Given the description of an element on the screen output the (x, y) to click on. 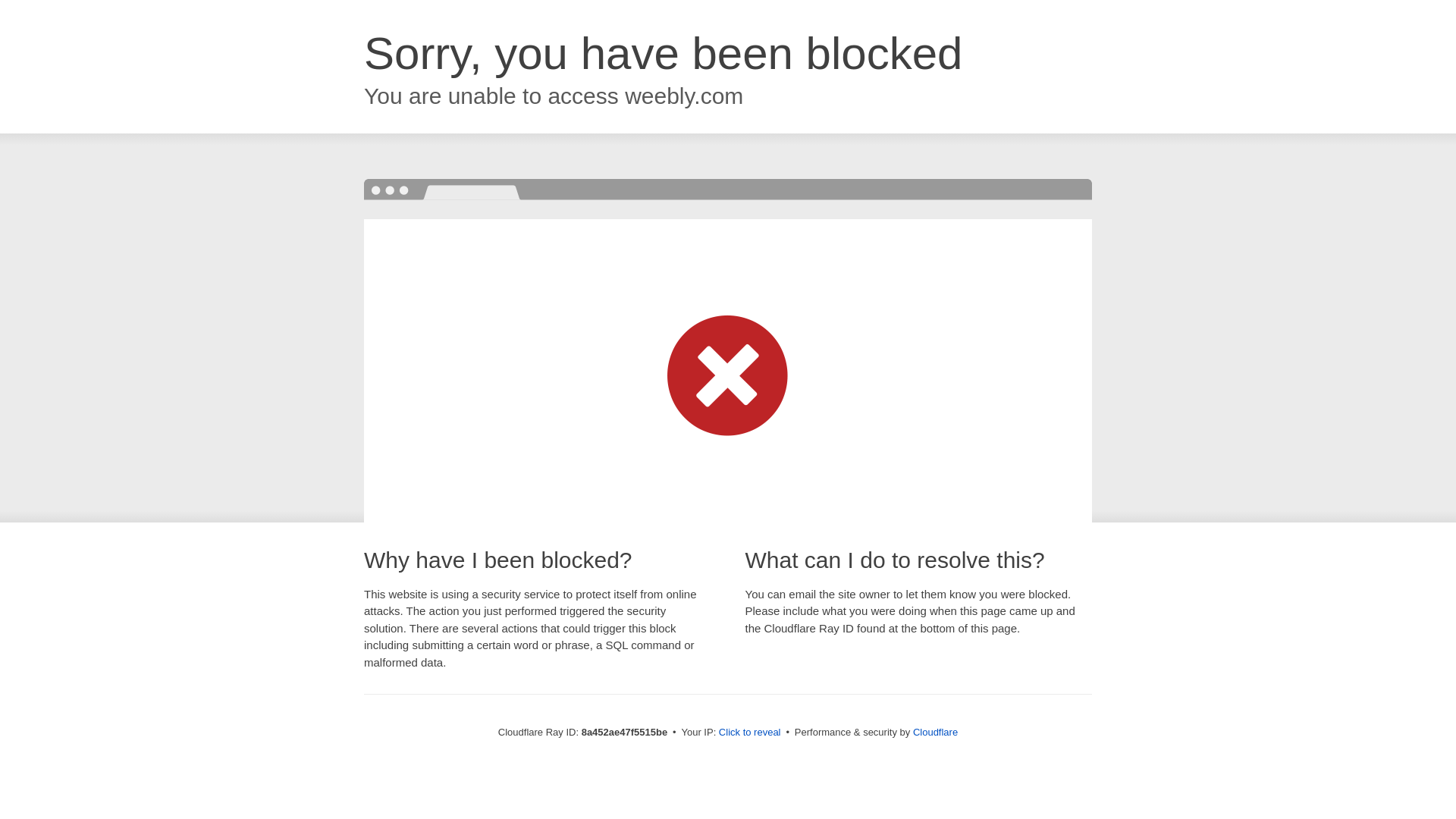
Click to reveal (749, 732)
Cloudflare (935, 731)
